Given the description of an element on the screen output the (x, y) to click on. 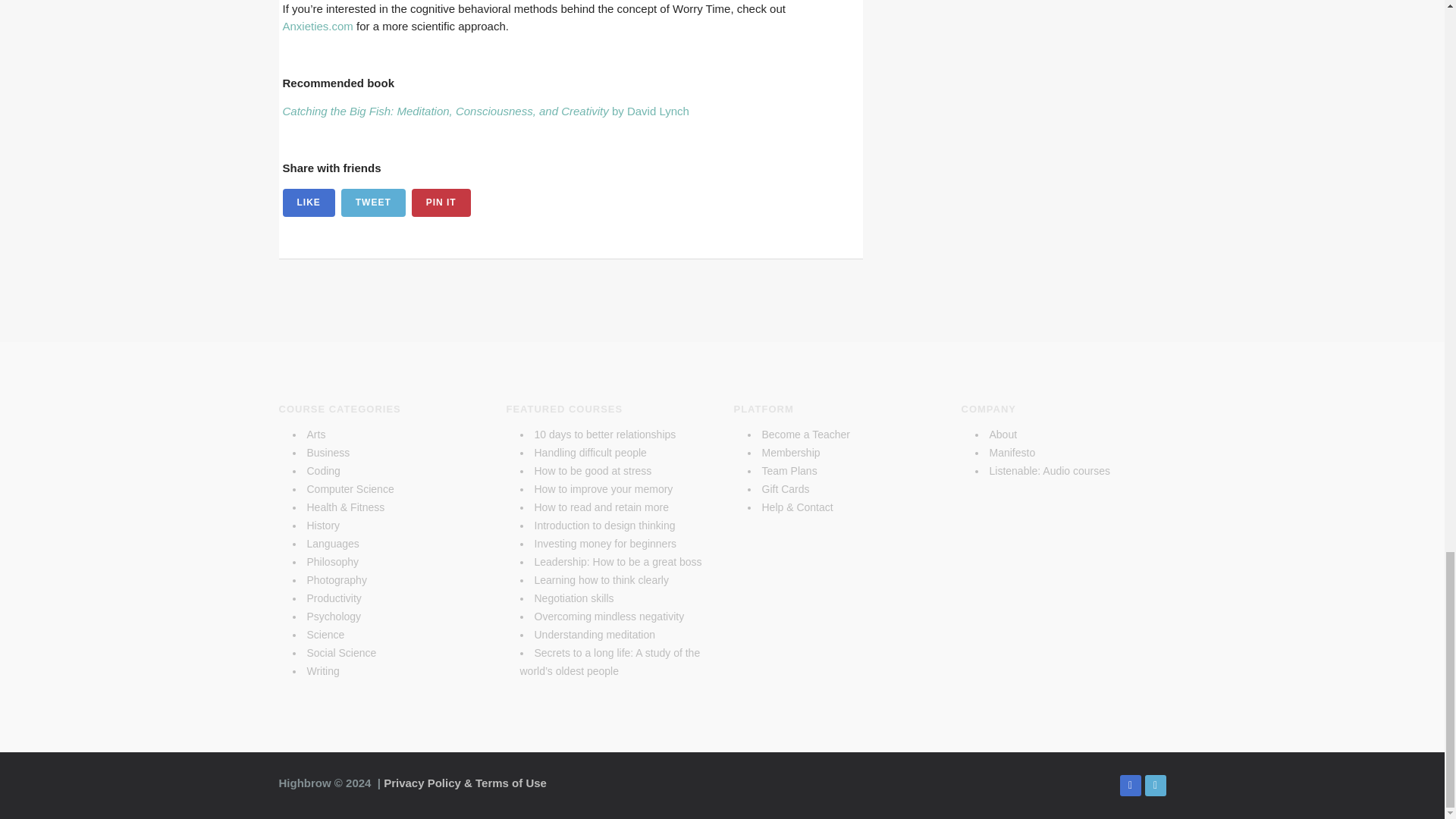
Productivity (333, 598)
Coding (322, 470)
PIN IT (441, 203)
Business (327, 452)
Anxieties.com (317, 25)
Arts (314, 434)
Computer Science (349, 489)
Philosophy (331, 562)
Languages (331, 543)
History (322, 525)
TWEET (373, 203)
LIKE (308, 203)
Photography (335, 580)
